Given the description of an element on the screen output the (x, y) to click on. 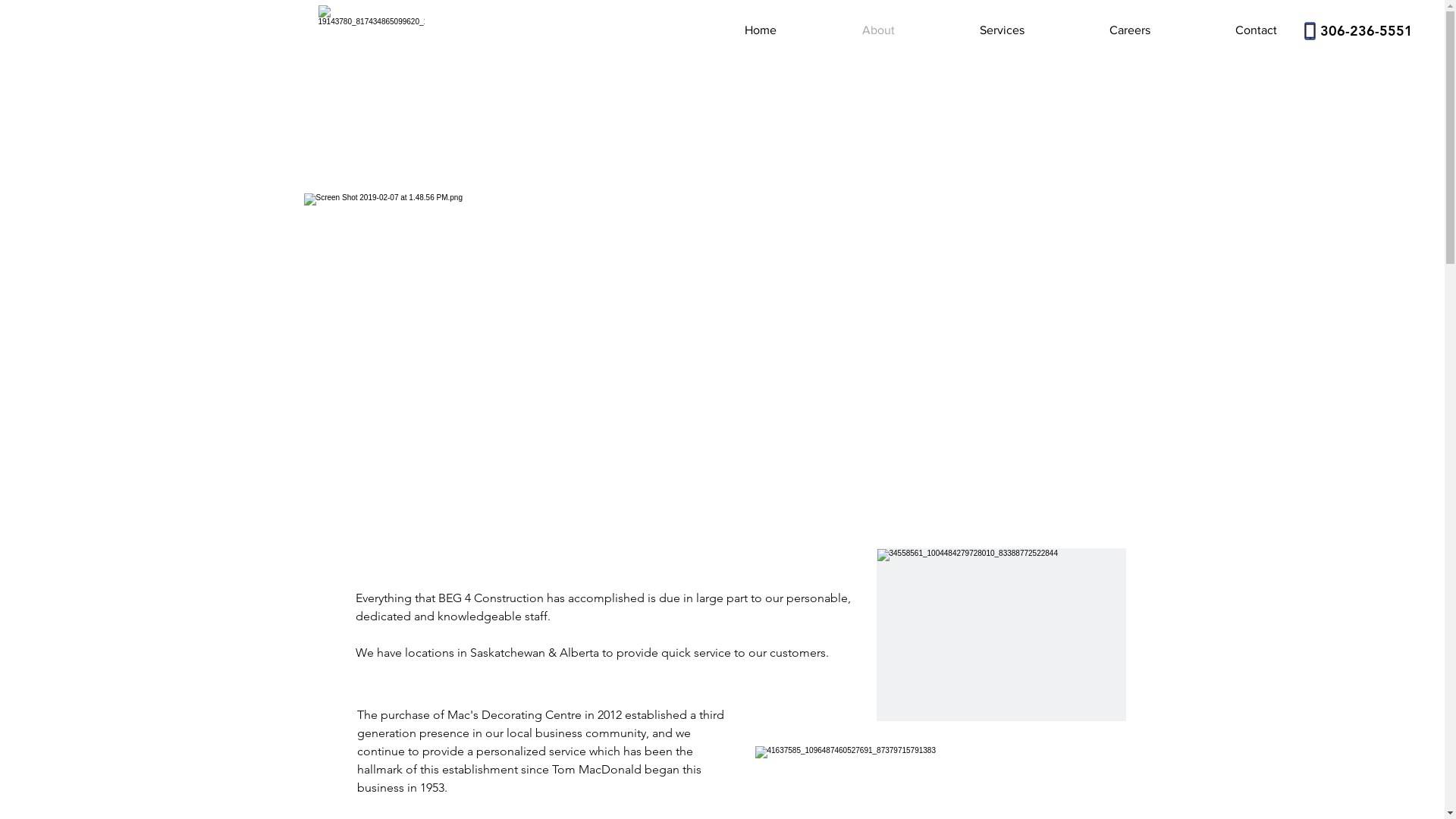
Contact Element type: text (1224, 29)
Services Element type: text (970, 29)
Careers Element type: text (1098, 29)
Home Element type: text (728, 29)
About Element type: text (846, 29)
